Given the description of an element on the screen output the (x, y) to click on. 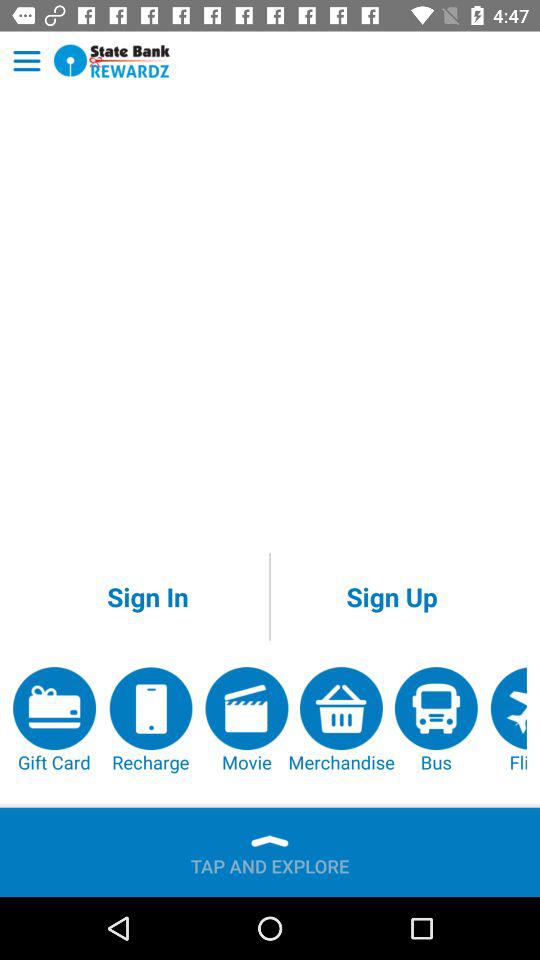
turn on the item next to the merchandise item (246, 720)
